Given the description of an element on the screen output the (x, y) to click on. 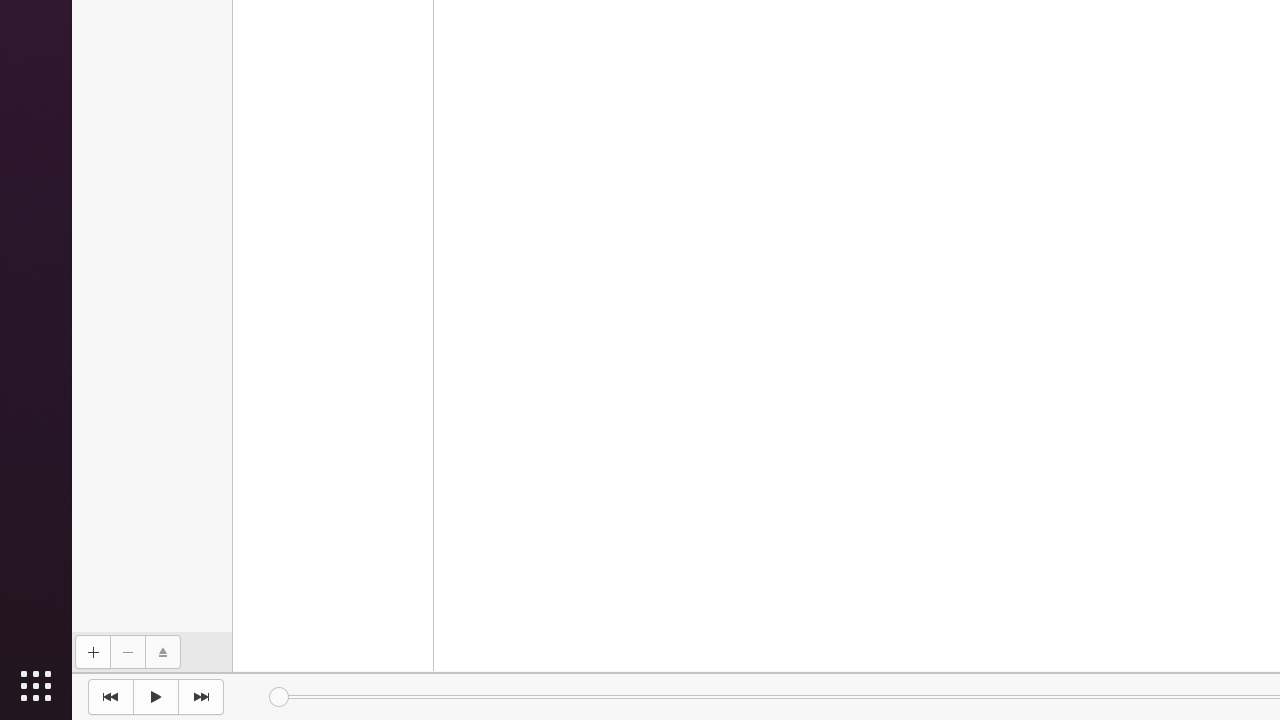
Remove Element type: push-button (127, 652)
Add Element type: toggle-button (92, 652)
